Given the description of an element on the screen output the (x, y) to click on. 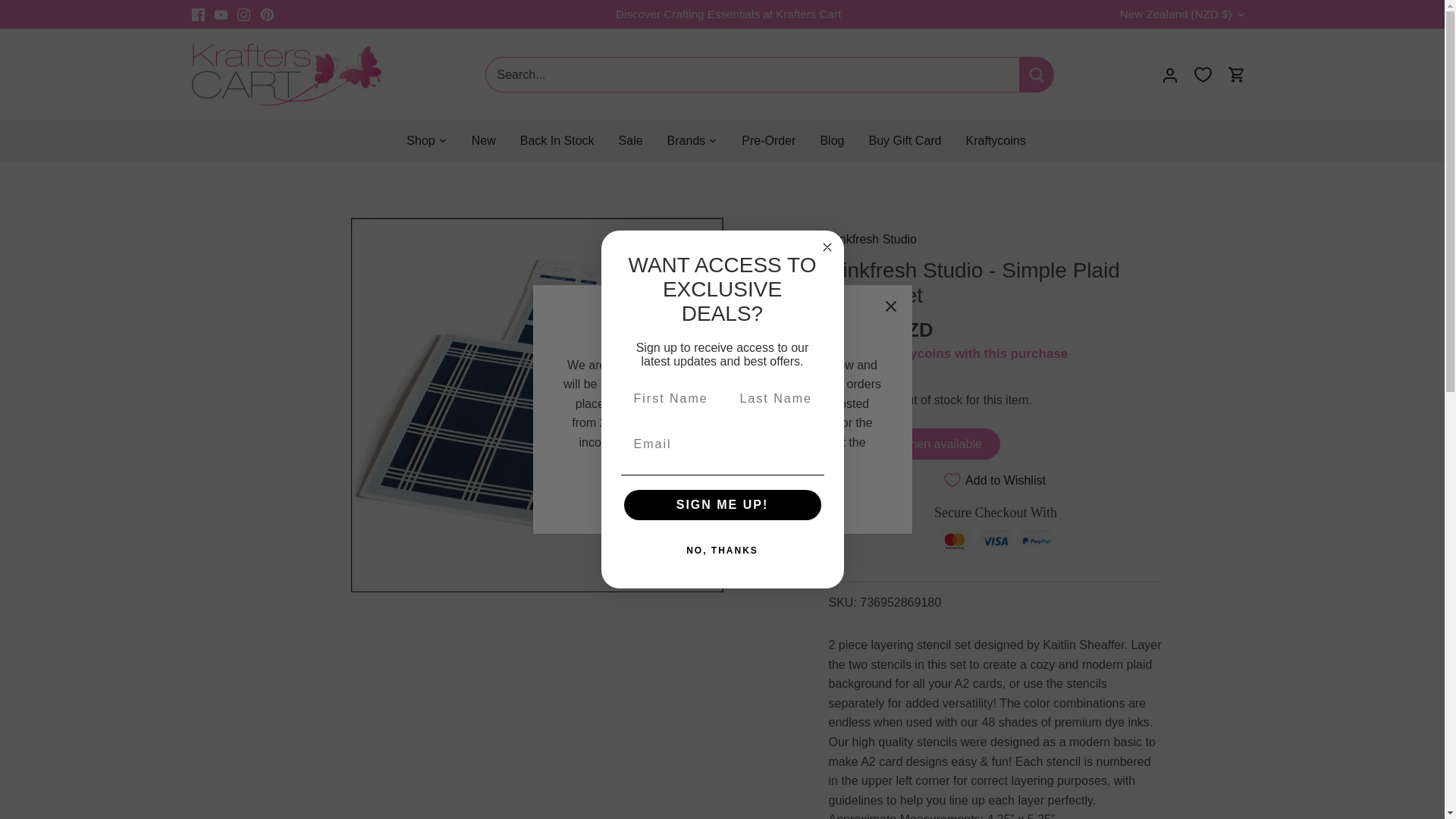
Instagram (243, 14)
Facebook (196, 14)
Youtube (220, 14)
Pinterest (266, 14)
trust-badges-widget (994, 535)
